Given the description of an element on the screen output the (x, y) to click on. 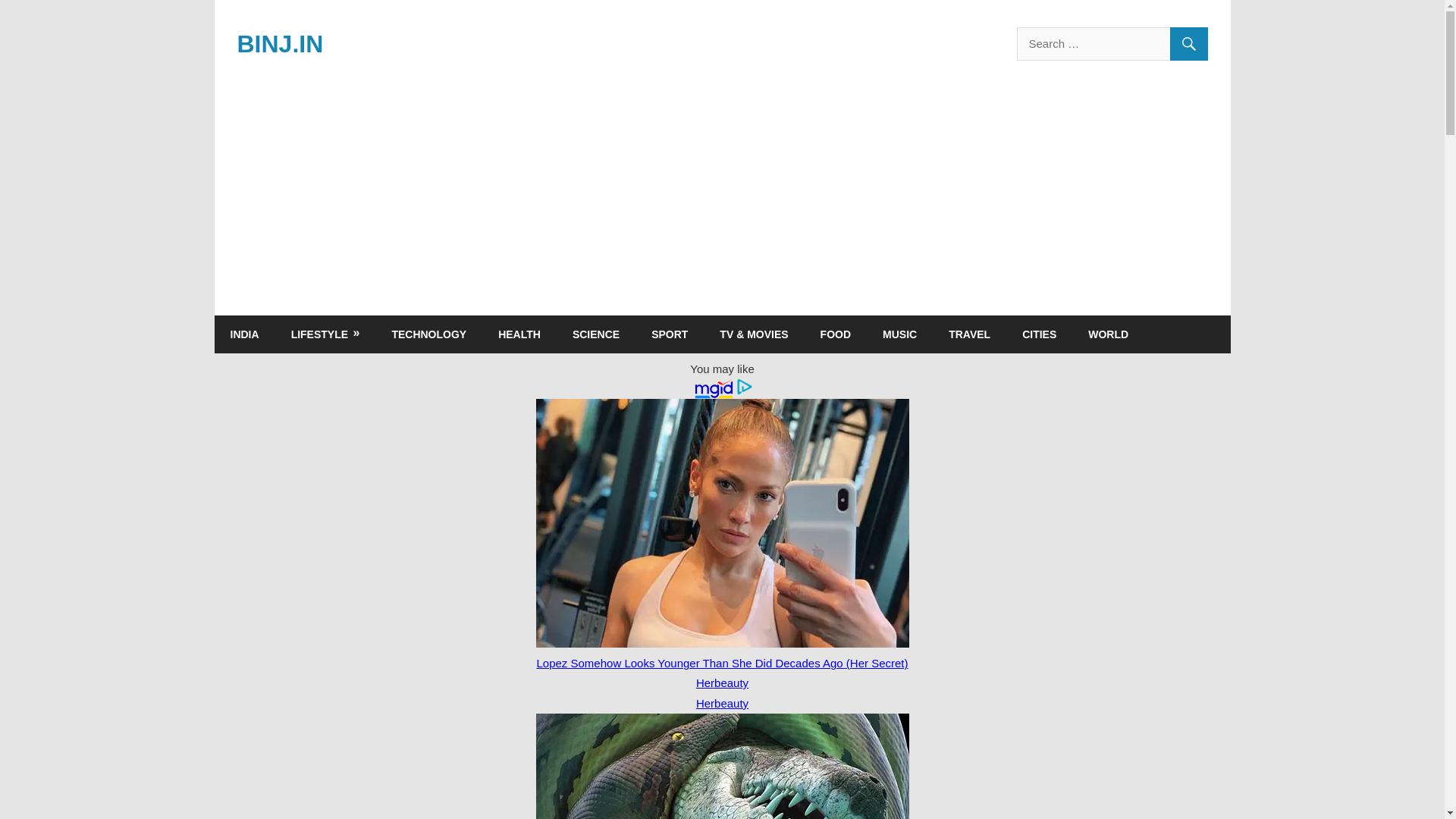
TRAVEL (969, 333)
Search for: (1111, 43)
CITIES (1038, 333)
INDIA (244, 333)
FOOD (835, 333)
SCIENCE (595, 333)
BINJ.IN (279, 43)
MUSIC (899, 333)
WORLD (1107, 333)
